Given the description of an element on the screen output the (x, y) to click on. 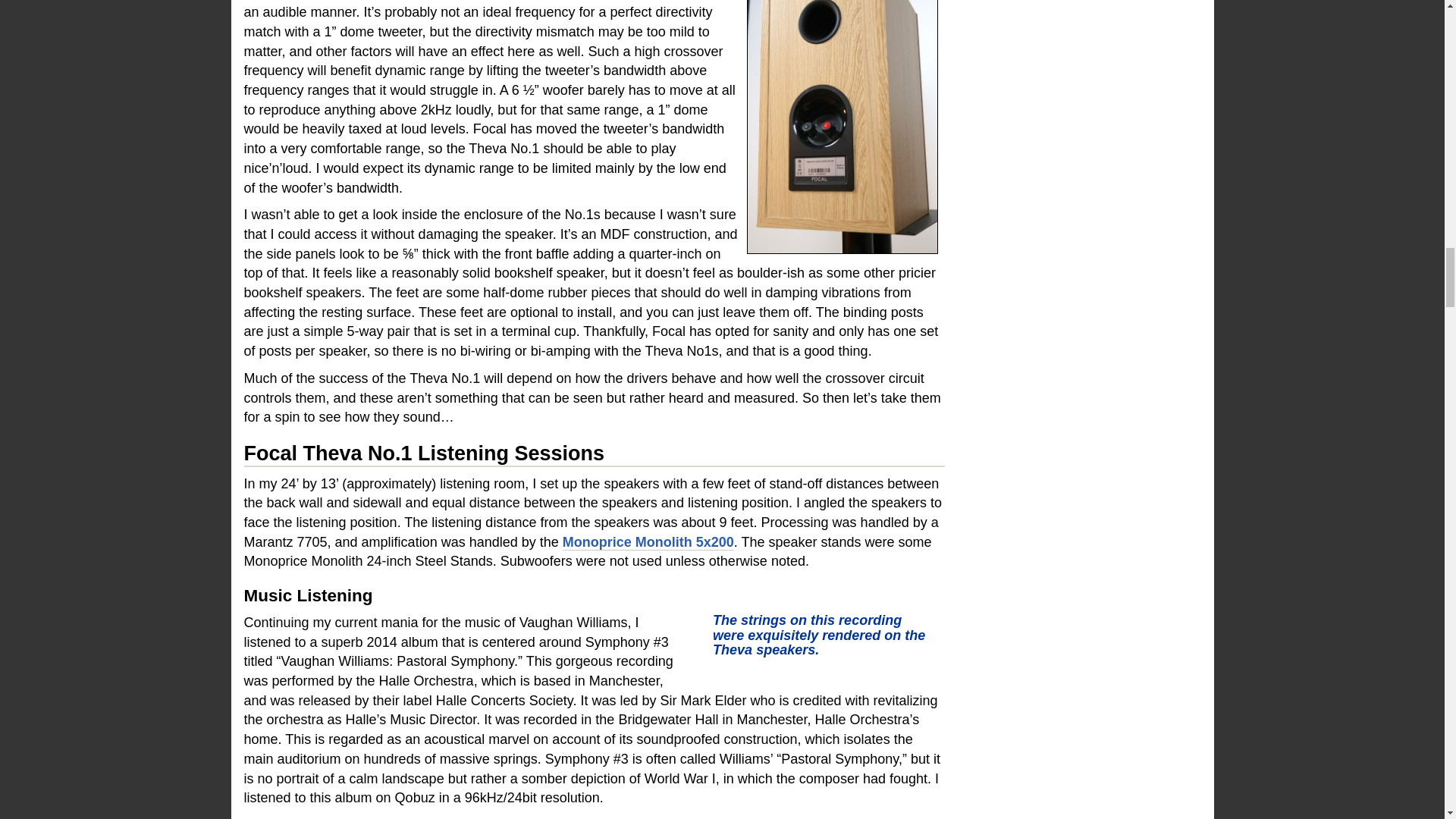
Monoprice Monolith 7-Channel Amplifier Review (647, 542)
